Given the description of an element on the screen output the (x, y) to click on. 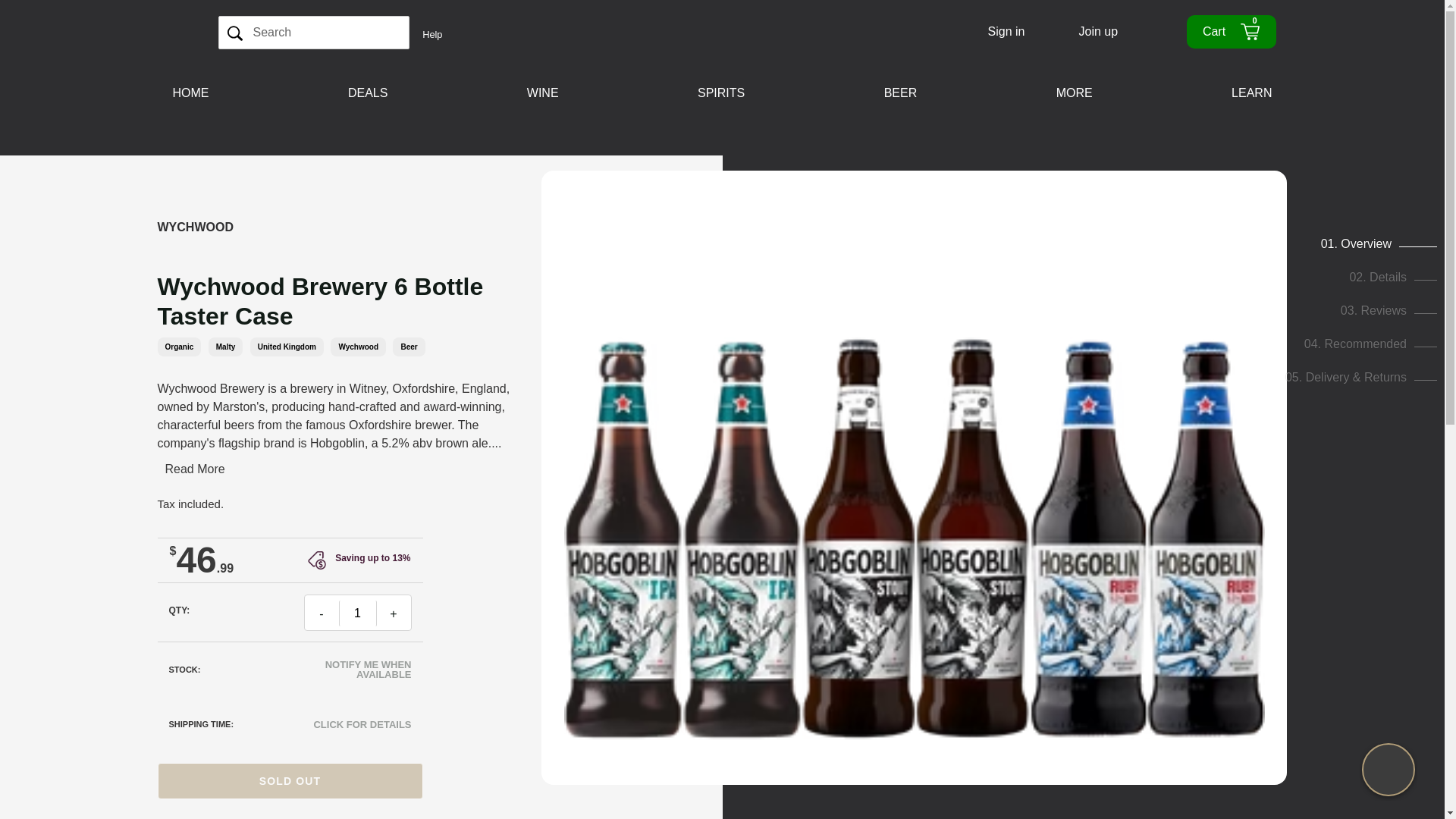
Wychwood (357, 346)
Wychwood (194, 226)
MORE (1074, 93)
LEARN (1251, 93)
1 (1230, 31)
Submit (356, 613)
02. Details (234, 32)
Beer (1393, 277)
01. Overview (409, 346)
